Given the description of an element on the screen output the (x, y) to click on. 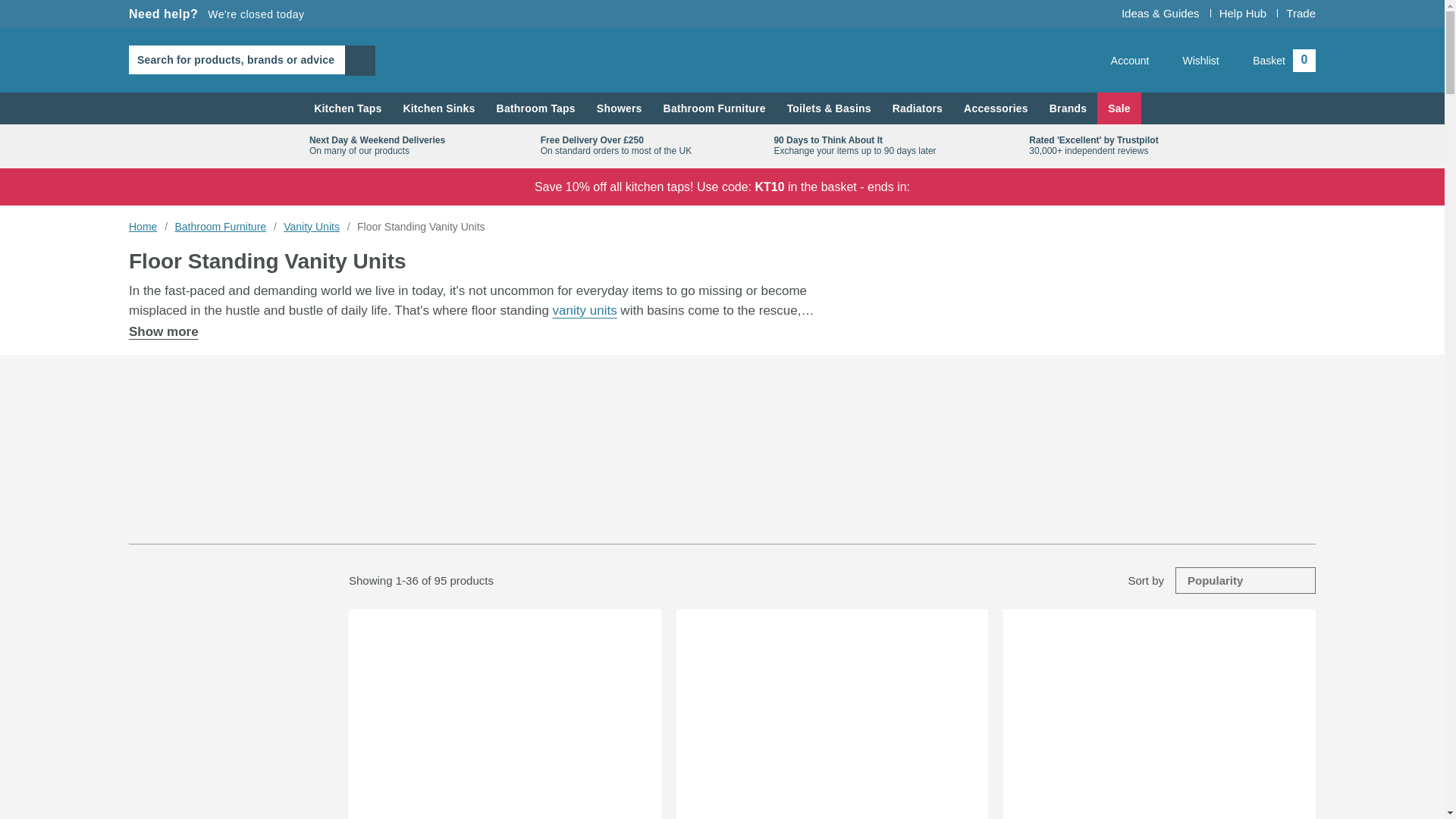
Help Hub (1243, 12)
Kitchen Sinks (437, 108)
Tap Warehouse (722, 60)
Kitchen Taps (346, 108)
Bathroom Furniture (714, 108)
0 (1121, 60)
Brands (824, 714)
Radiators (1068, 108)
Wishlist (917, 108)
